Given the description of an element on the screen output the (x, y) to click on. 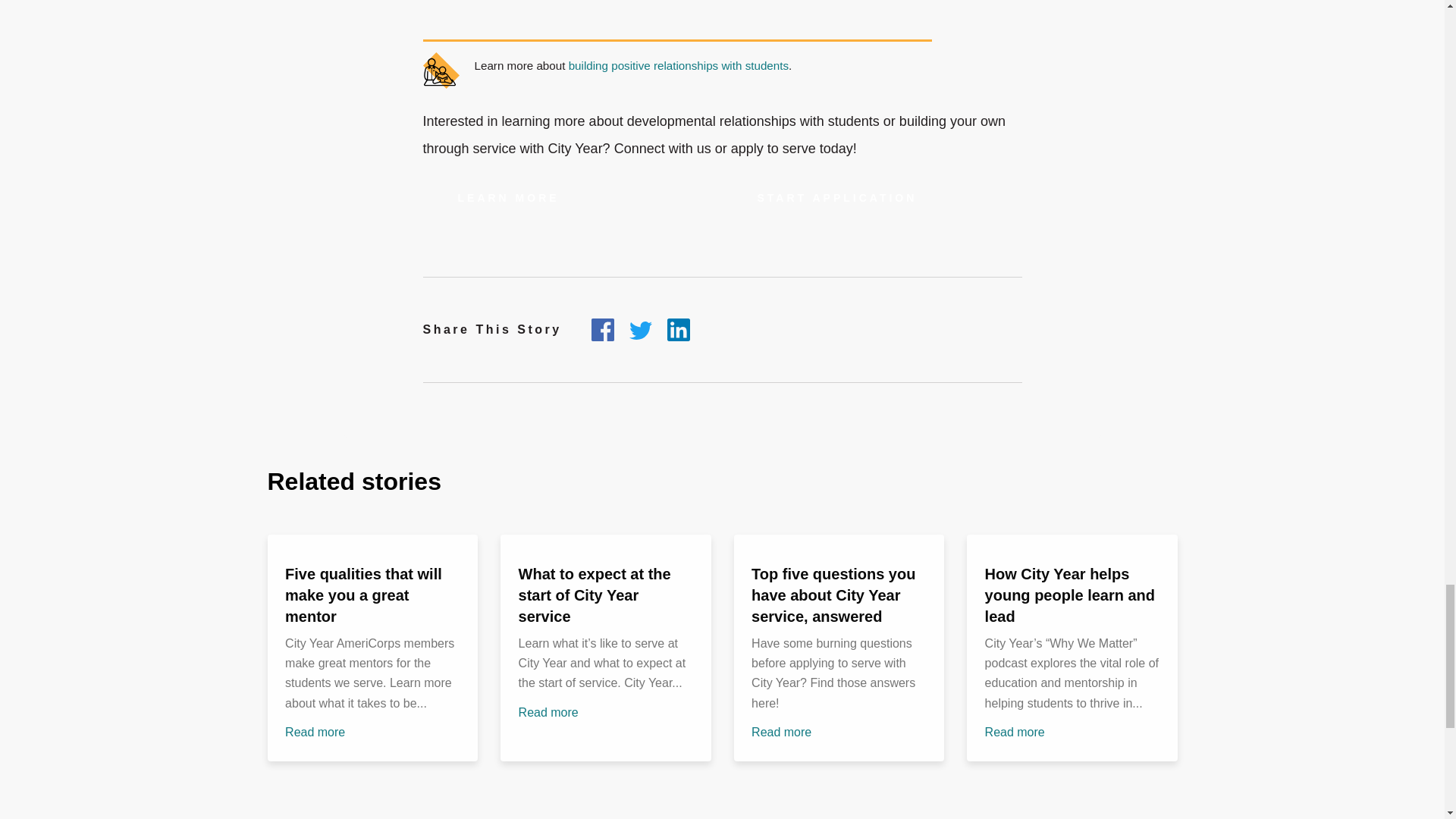
LinkedIn (678, 329)
Click here to start your City Year application (836, 198)
Click here to learn more (507, 198)
Facebook (602, 329)
Five qualities that will make you a great mentor (363, 594)
Twitter (640, 330)
